Given the description of an element on the screen output the (x, y) to click on. 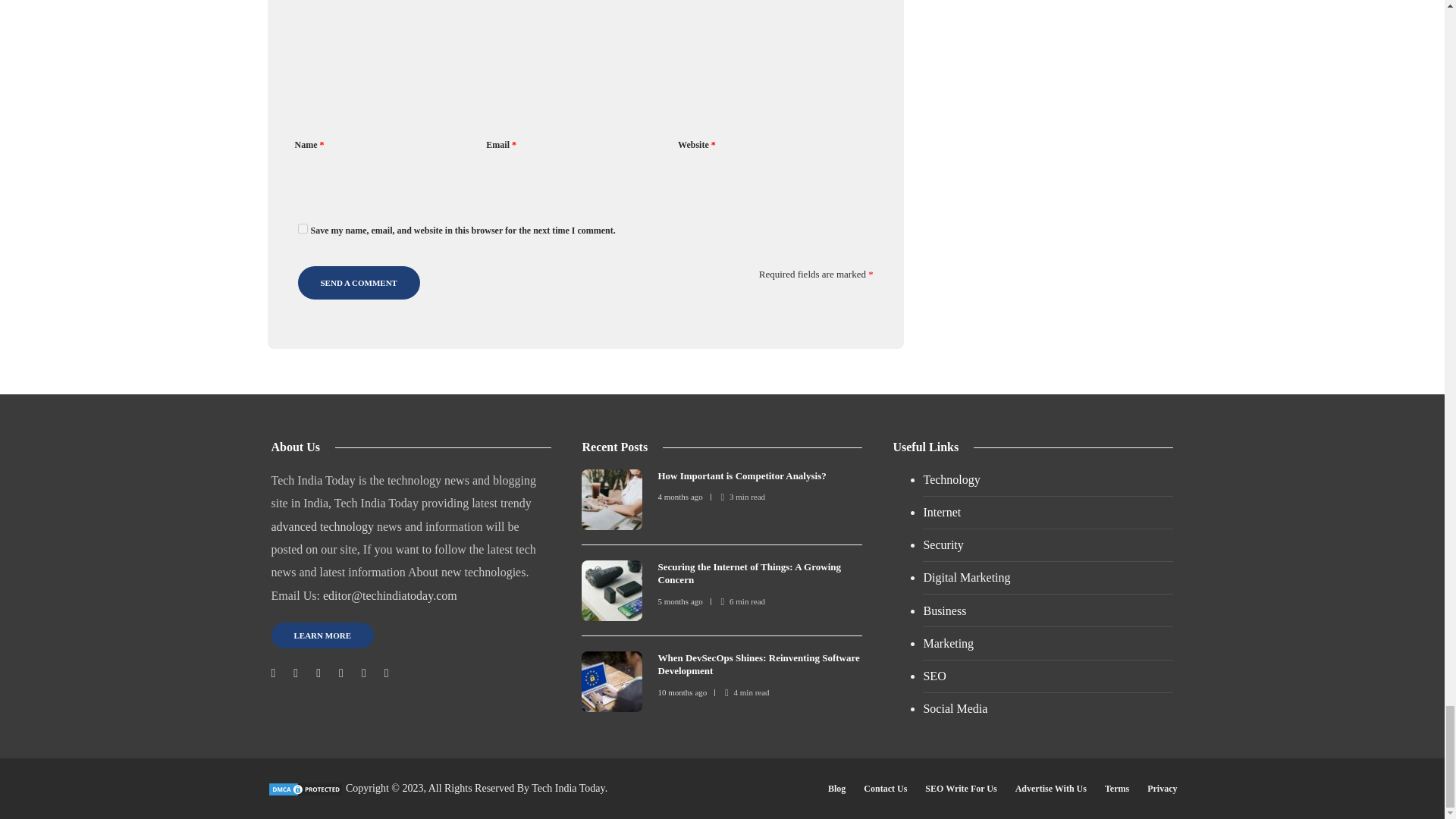
yes (302, 228)
DMCA.com Protection Status (304, 787)
Send a comment (358, 282)
